Given the description of an element on the screen output the (x, y) to click on. 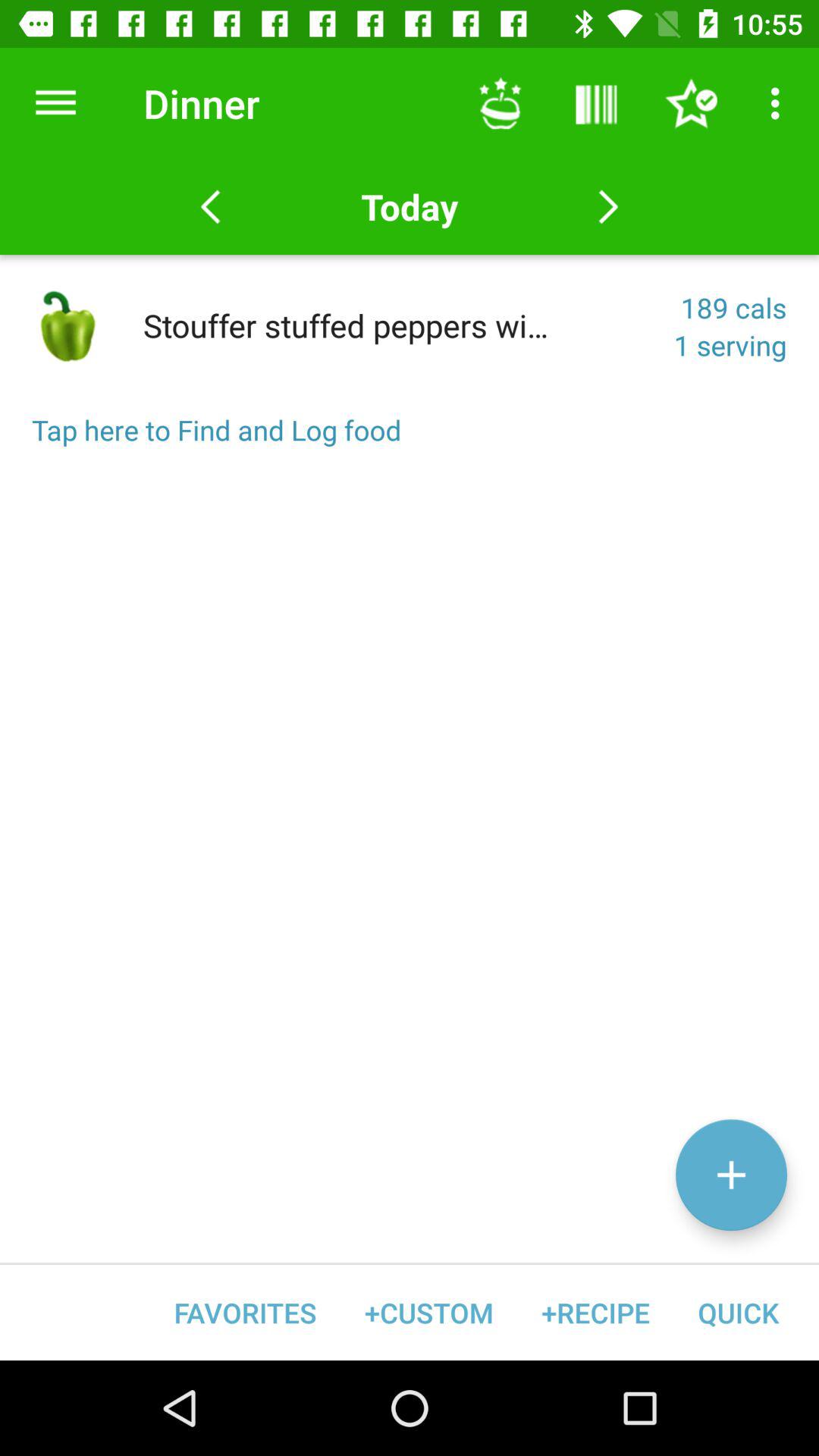
tap the icon above the 189 cals item (409, 206)
